Given the description of an element on the screen output the (x, y) to click on. 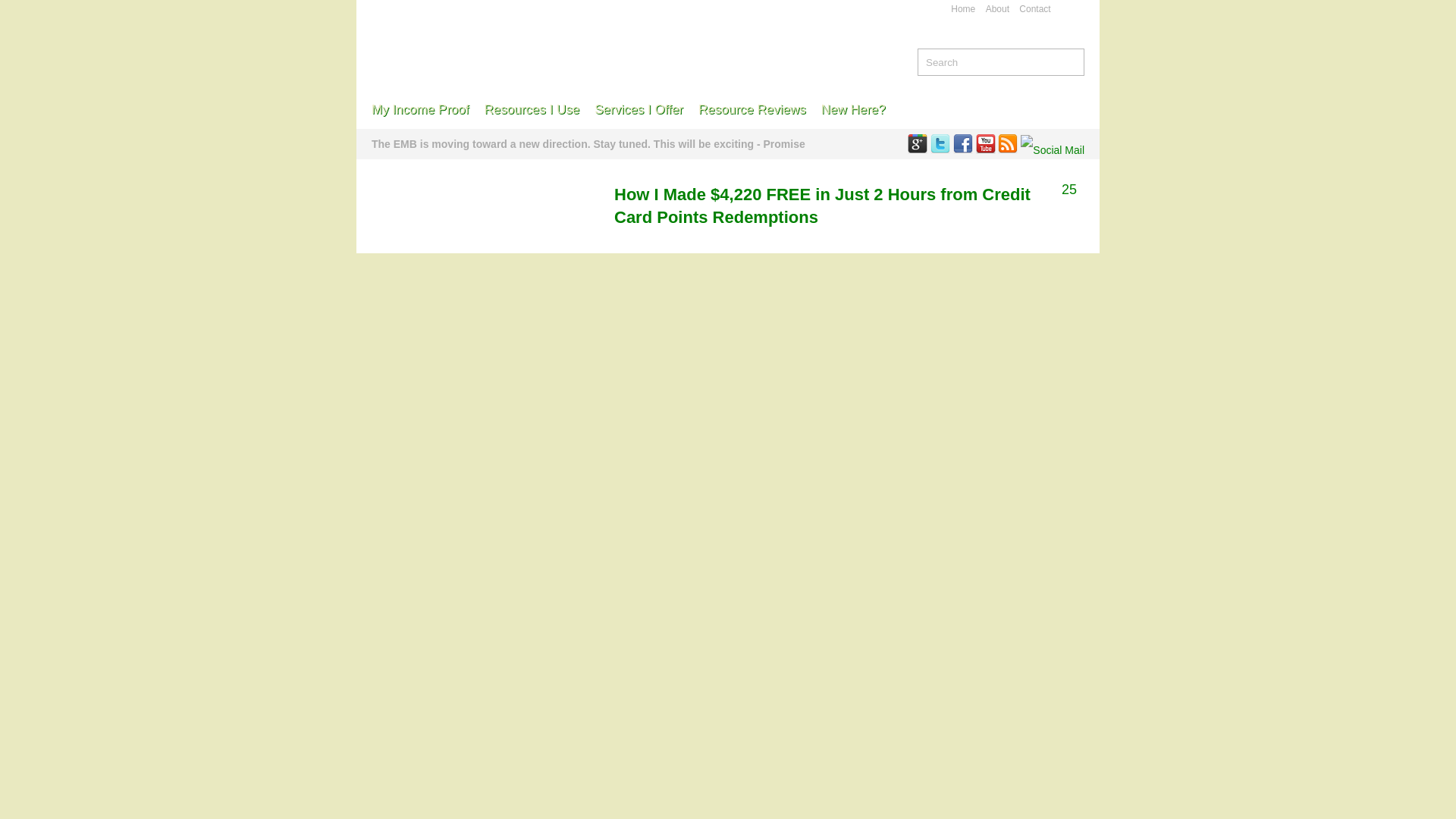
Resources I Use (531, 109)
Search (985, 62)
25 (1069, 189)
The Extra Money Blog (553, 38)
New Here? (853, 109)
Contact (1034, 9)
Services I Offer (638, 109)
Resource Reviews (751, 109)
Home (962, 9)
My Income Proof (420, 109)
Search (1072, 60)
Search (1072, 60)
About (997, 9)
